Given the description of an element on the screen output the (x, y) to click on. 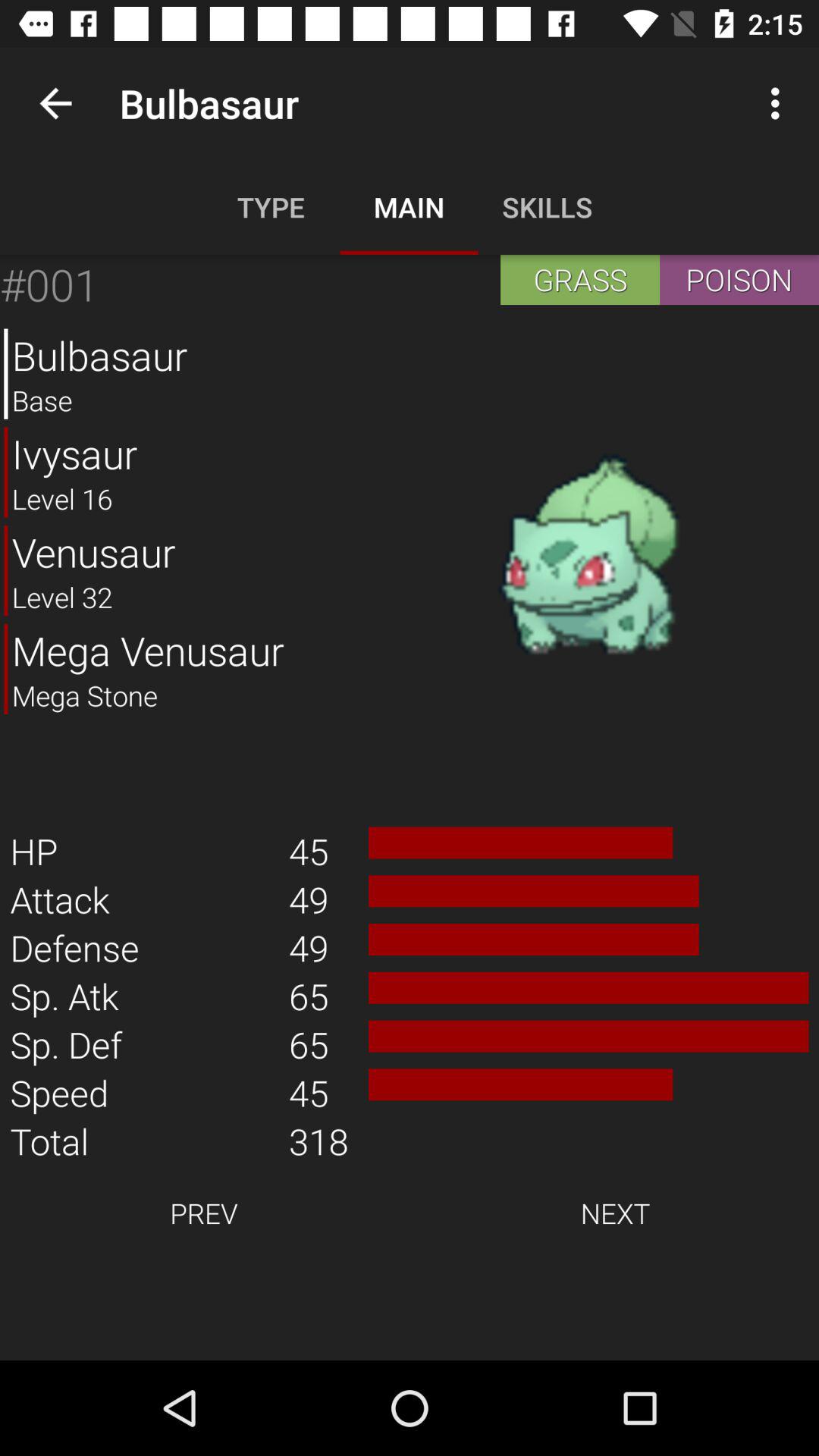
click the icon to the right of the bulbasaur item (588, 555)
